Given the description of an element on the screen output the (x, y) to click on. 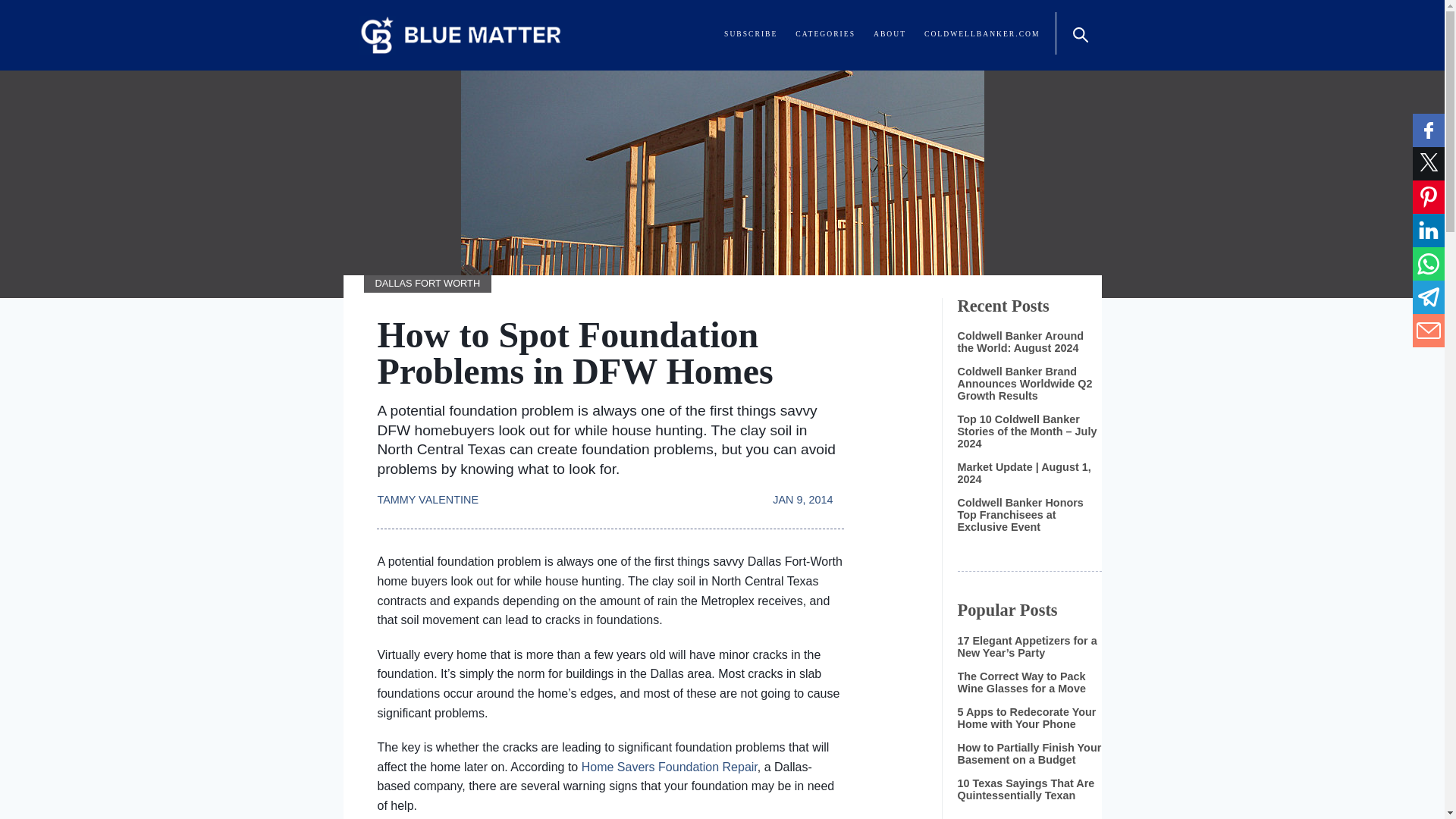
Coldwell Banker Brand Announces Worldwide Q2 Growth Results (1024, 383)
ABOUT (889, 33)
10 Texas Sayings That Are Quintessentially Texan (1025, 789)
COLDWELLBANKER.COM (981, 33)
How to Partially Finish Your Basement on a Budget (1028, 753)
CATEGORIES (825, 33)
Home Savers Foundation Repair (668, 766)
The Correct Way to Pack Wine Glasses for a Move (1020, 682)
Coldwell Banker Honors Top Franchisees at Exclusive Event (1019, 514)
Posts by Tammy Valentine (433, 492)
